Given the description of an element on the screen output the (x, y) to click on. 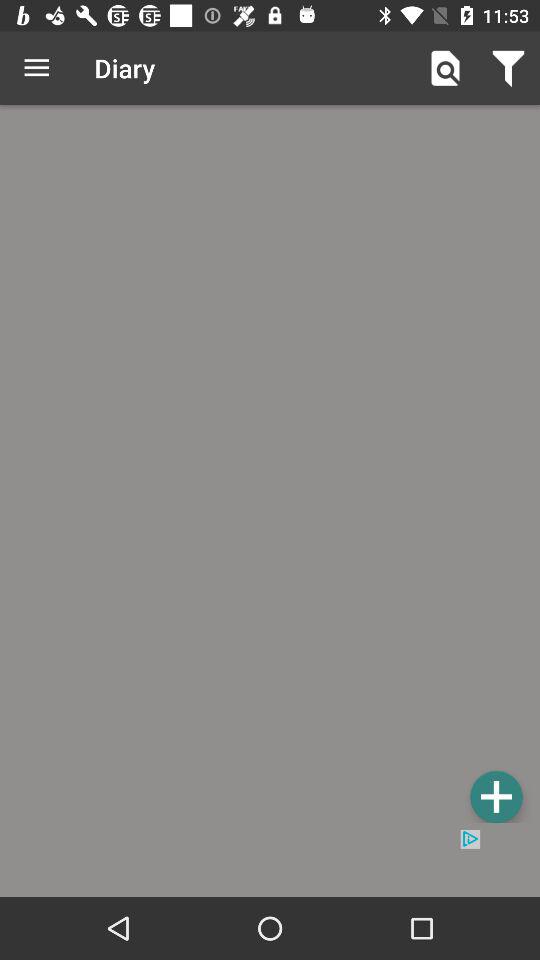
tap icon next to the diary (36, 68)
